Given the description of an element on the screen output the (x, y) to click on. 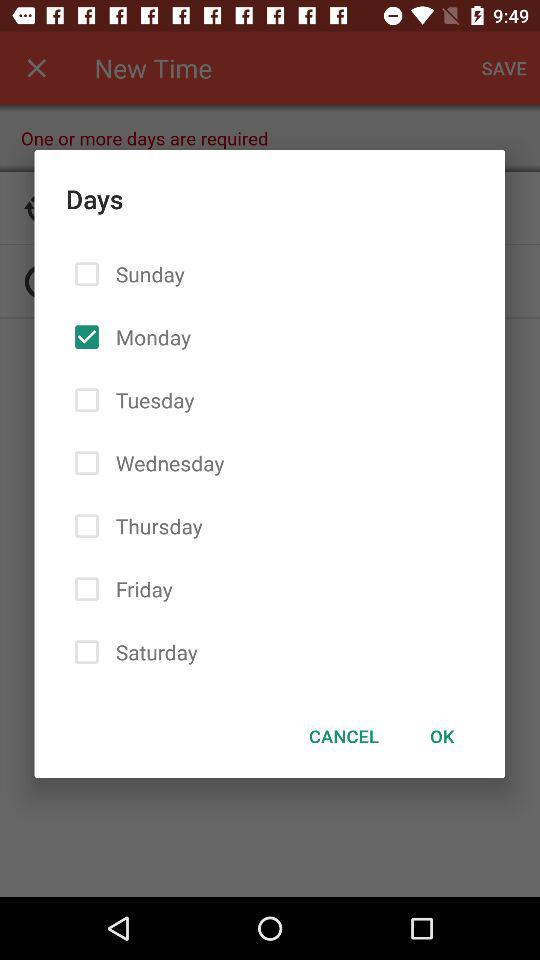
choose the friday (140, 588)
